Given the description of an element on the screen output the (x, y) to click on. 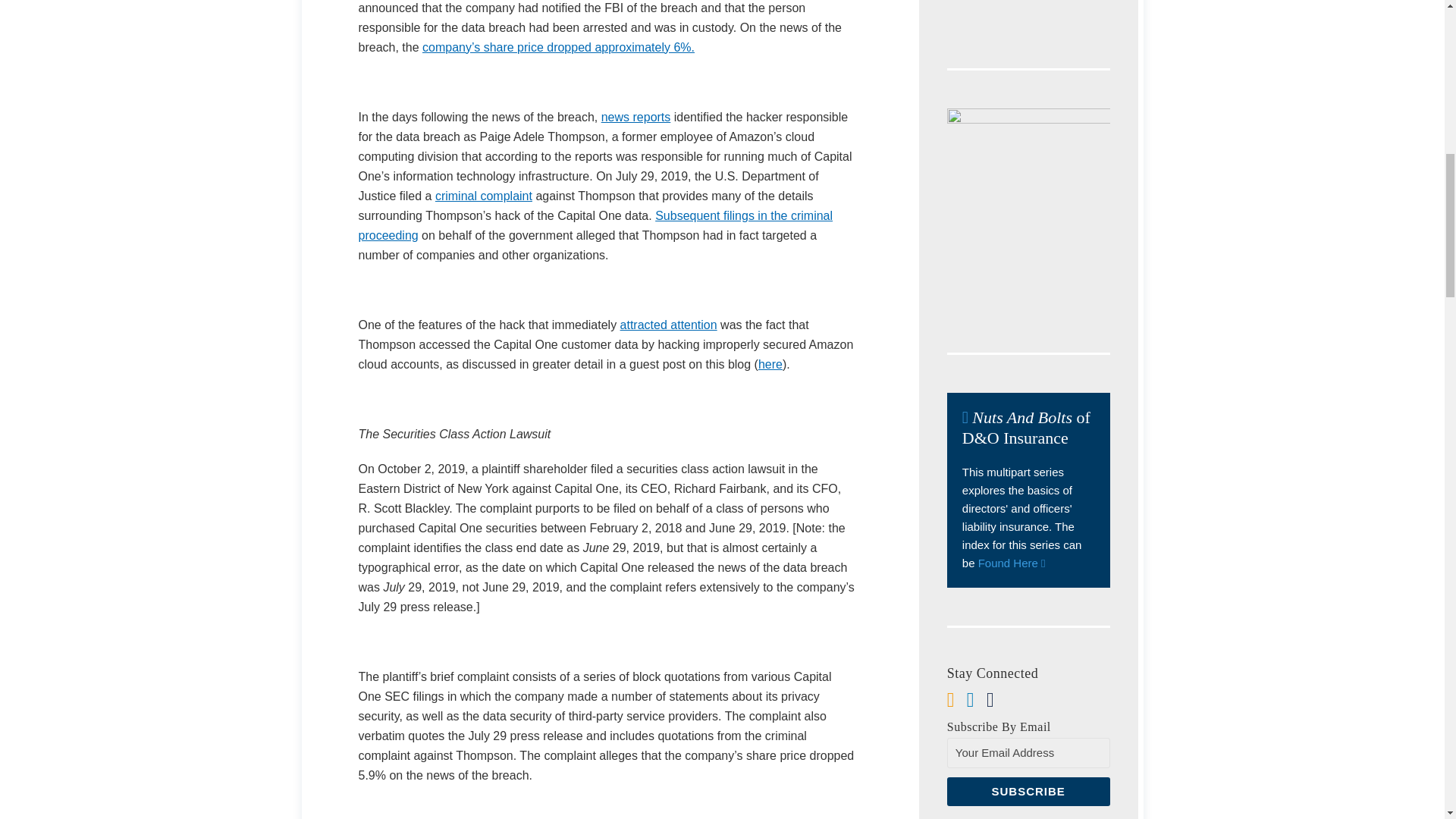
Subsequent filings in the criminal proceeding (595, 225)
Subscribe (1028, 791)
here (770, 364)
news reports (636, 116)
criminal complaint (483, 195)
attracted attention (668, 324)
